Given the description of an element on the screen output the (x, y) to click on. 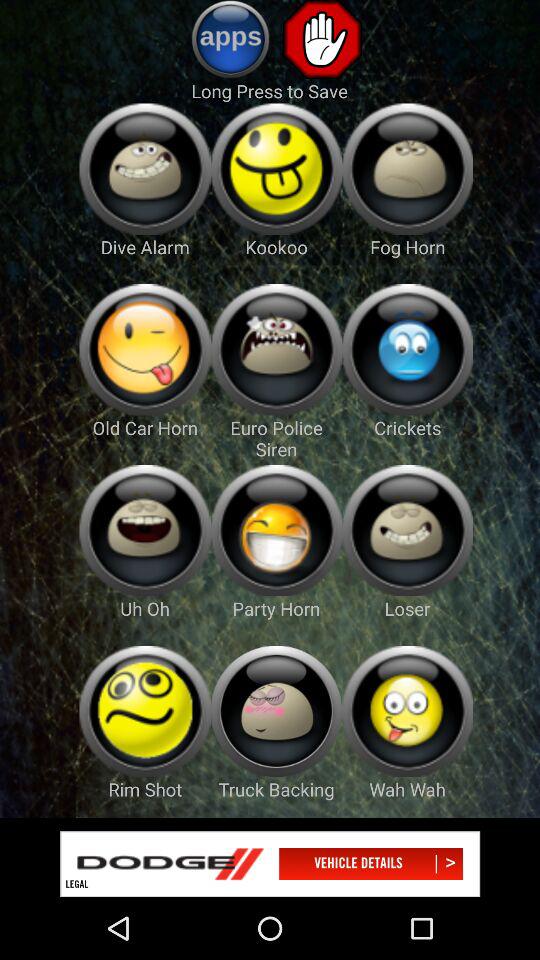
dive alarm button (144, 168)
